Given the description of an element on the screen output the (x, y) to click on. 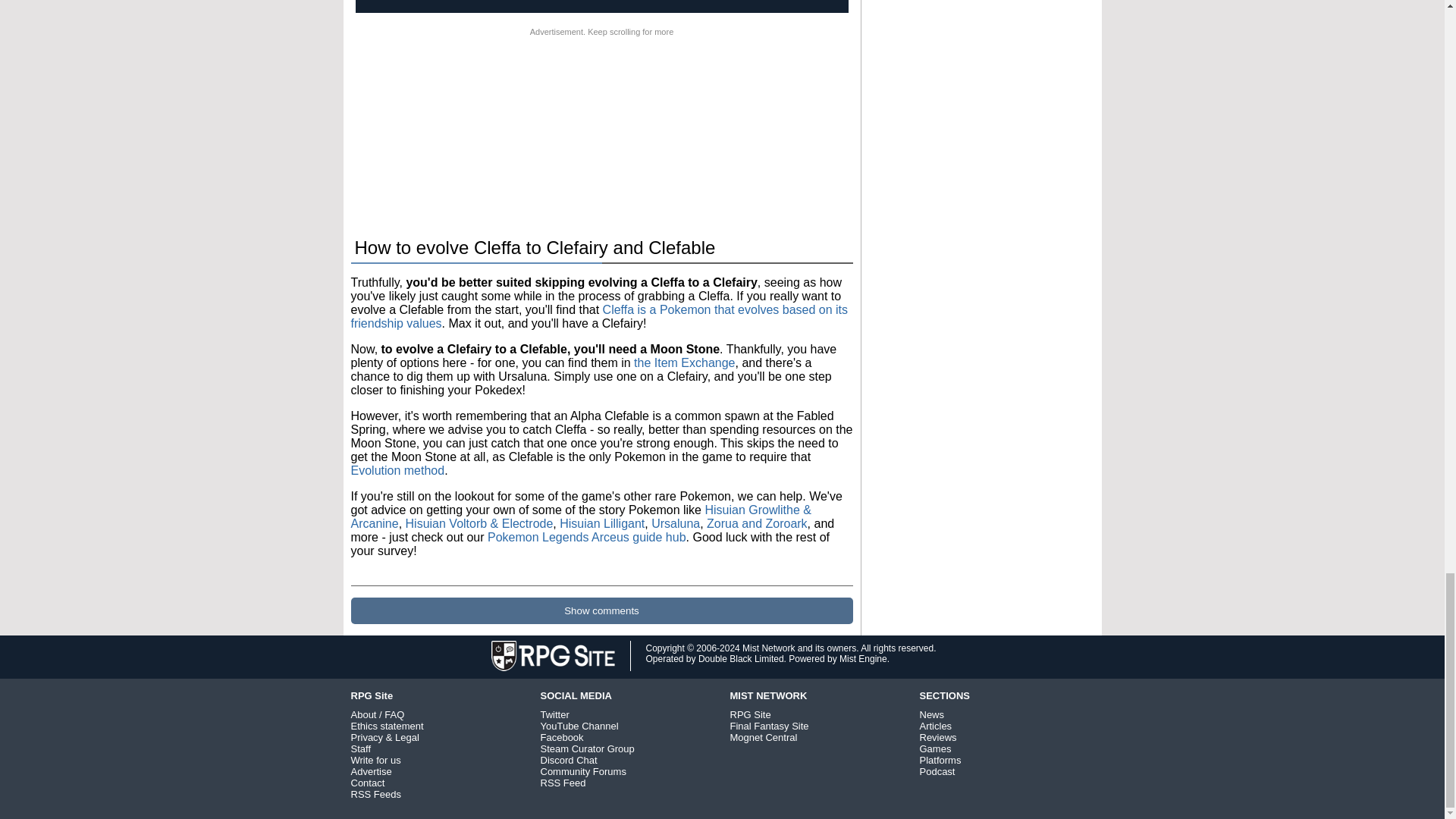
Zorua and Zoroark (757, 522)
the Item Exchange (684, 362)
Ethics statement (386, 726)
Hisuian Lilligant (602, 522)
Ursaluna (675, 522)
Show comments (600, 610)
Pokemon Legends Arceus guide hub (586, 536)
Evolution method (397, 470)
